Given the description of an element on the screen output the (x, y) to click on. 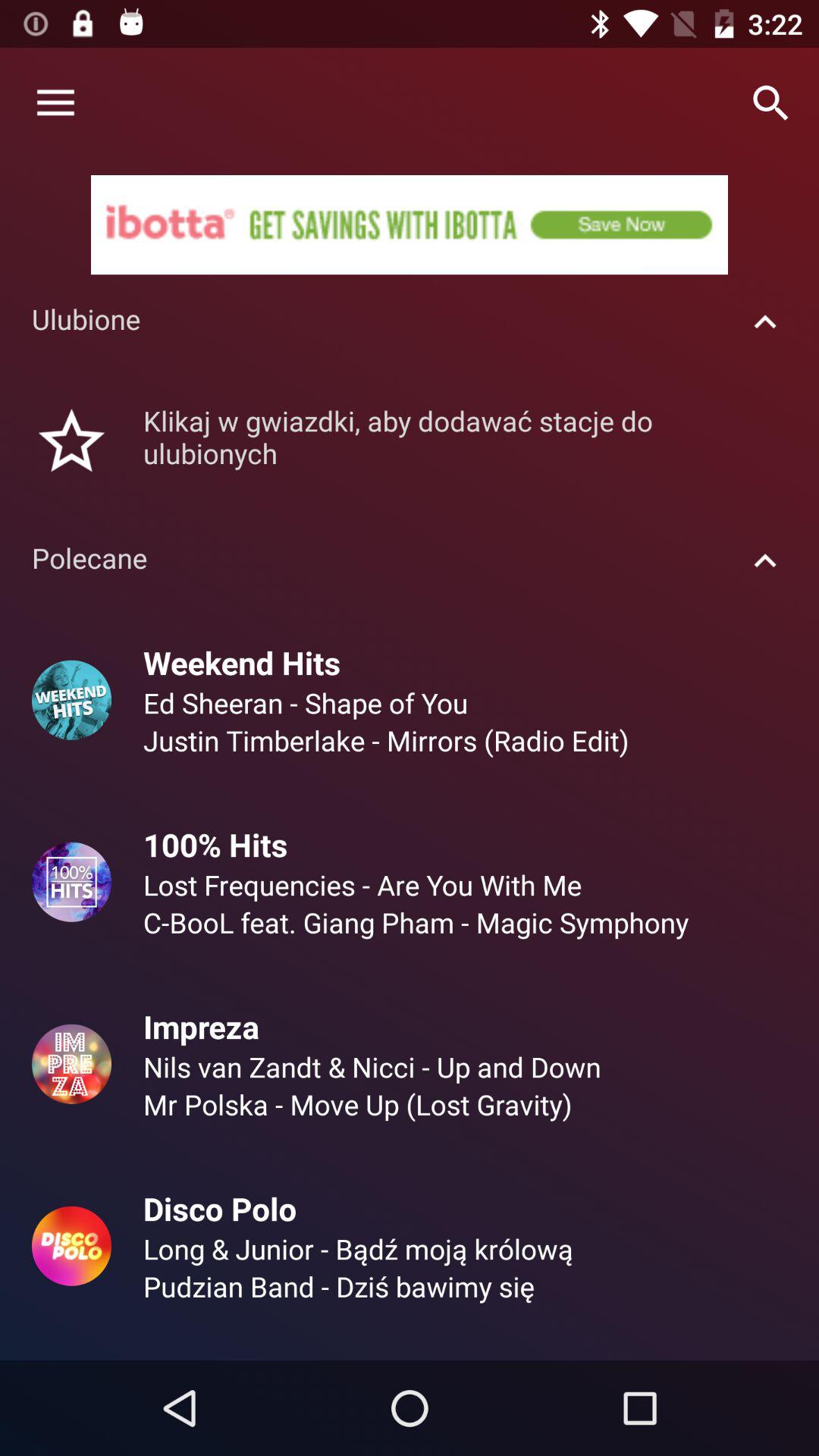
ibotta get savings (409, 224)
